Given the description of an element on the screen output the (x, y) to click on. 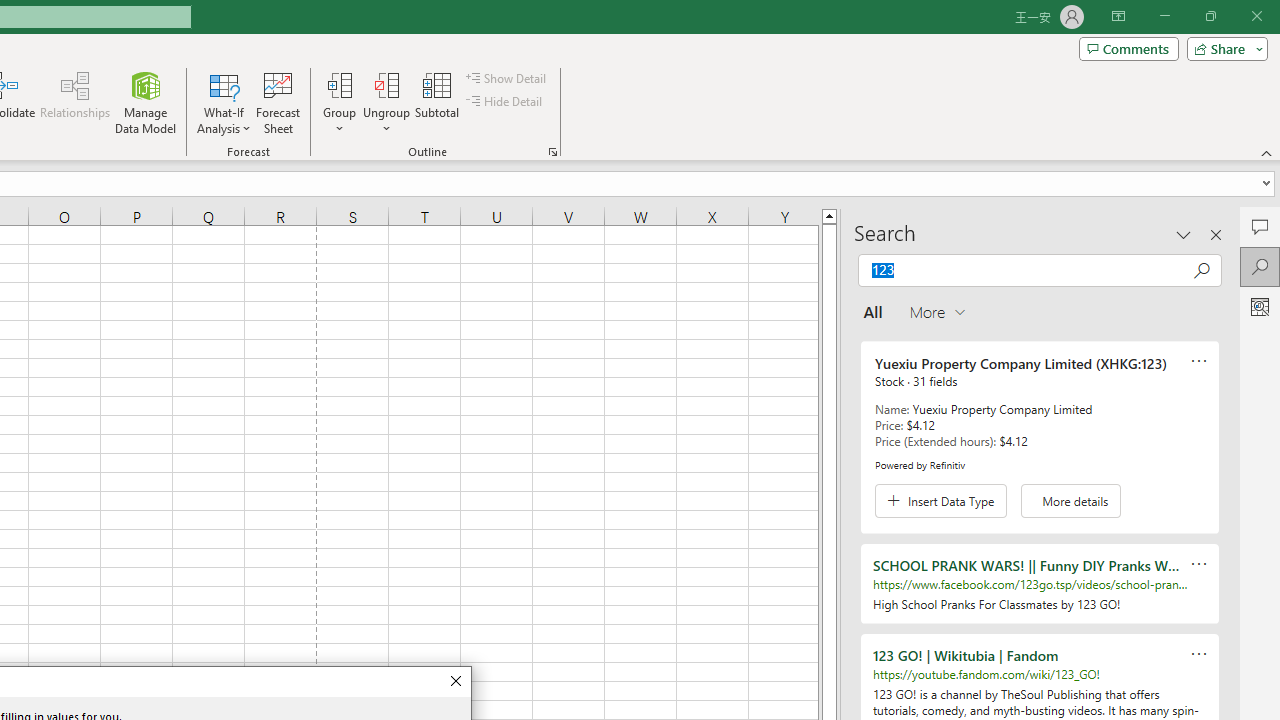
Subtotal (437, 102)
Forecast Sheet (278, 102)
Hide Detail (505, 101)
What-If Analysis (223, 102)
Show Detail (507, 78)
